Given the description of an element on the screen output the (x, y) to click on. 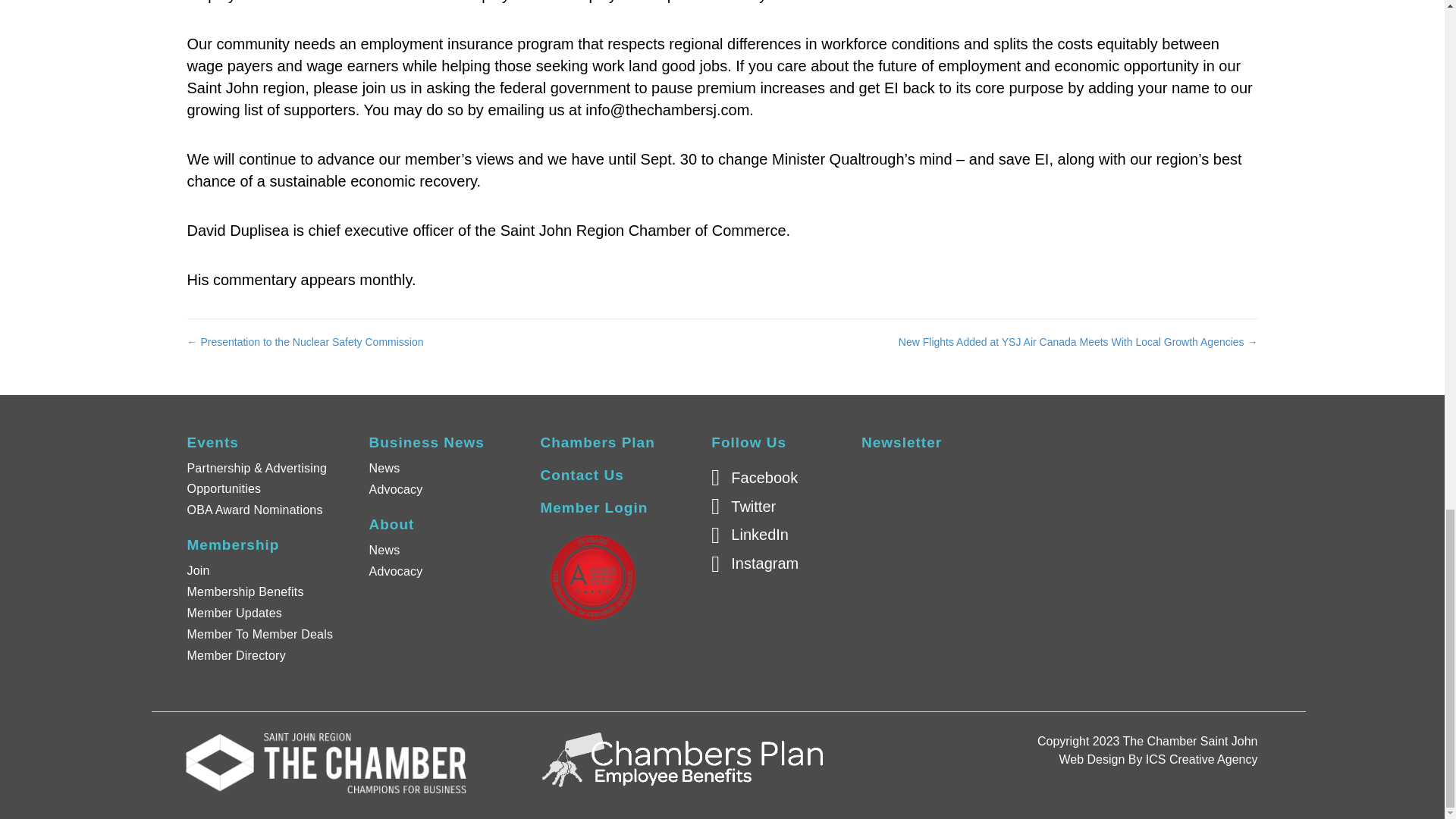
Member Login (593, 507)
White-Chambers-Plan-Employe (681, 759)
Contact Us (581, 474)
Chambers Plan (596, 442)
